Given the description of an element on the screen output the (x, y) to click on. 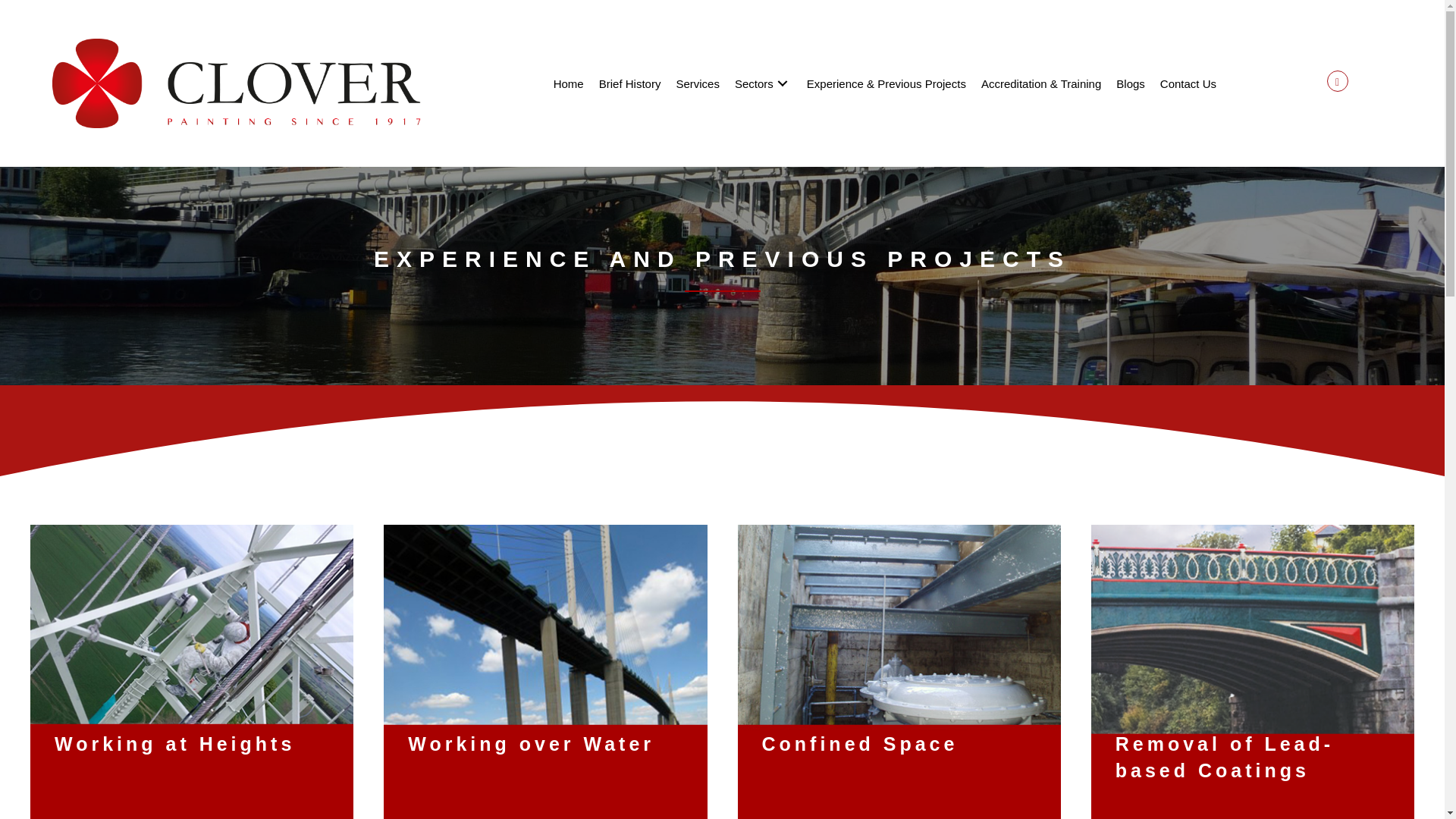
Working over Water (545, 676)
Home (582, 84)
Removal of Lead-based Coatings (1251, 676)
Sectors (762, 84)
Brief History (638, 84)
FAC Painting Logo FINAL web (236, 83)
Blogs (1130, 84)
Confined Space (897, 676)
LinkedIn (1337, 80)
Contact Us (1188, 84)
Working at Heights (191, 676)
Services (700, 84)
